Given the description of an element on the screen output the (x, y) to click on. 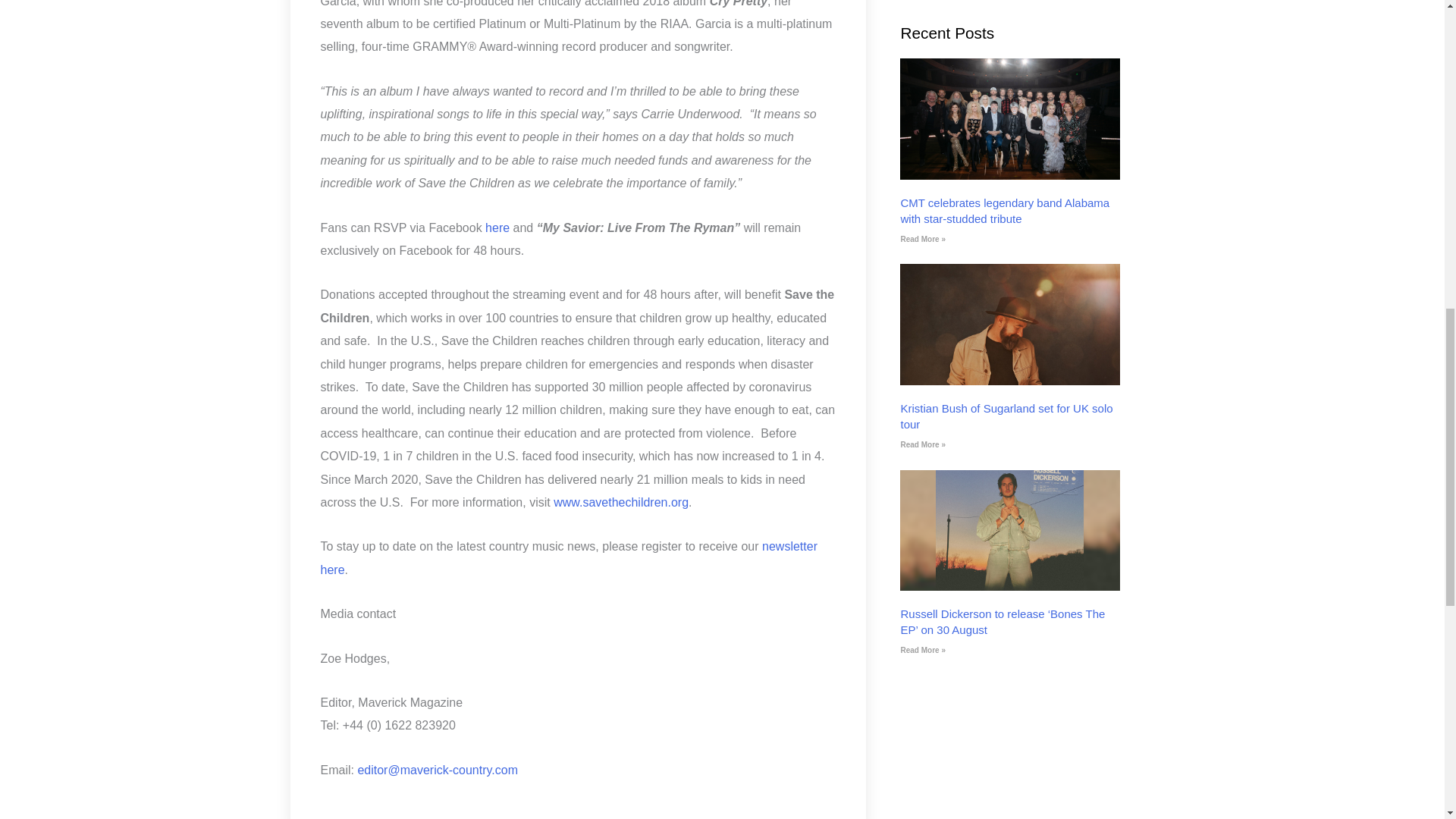
Kristian Bush of Sugarland set for UK solo tour (1005, 416)
newsletter here (568, 557)
here (496, 227)
www.savethechildren.org (620, 502)
